Given the description of an element on the screen output the (x, y) to click on. 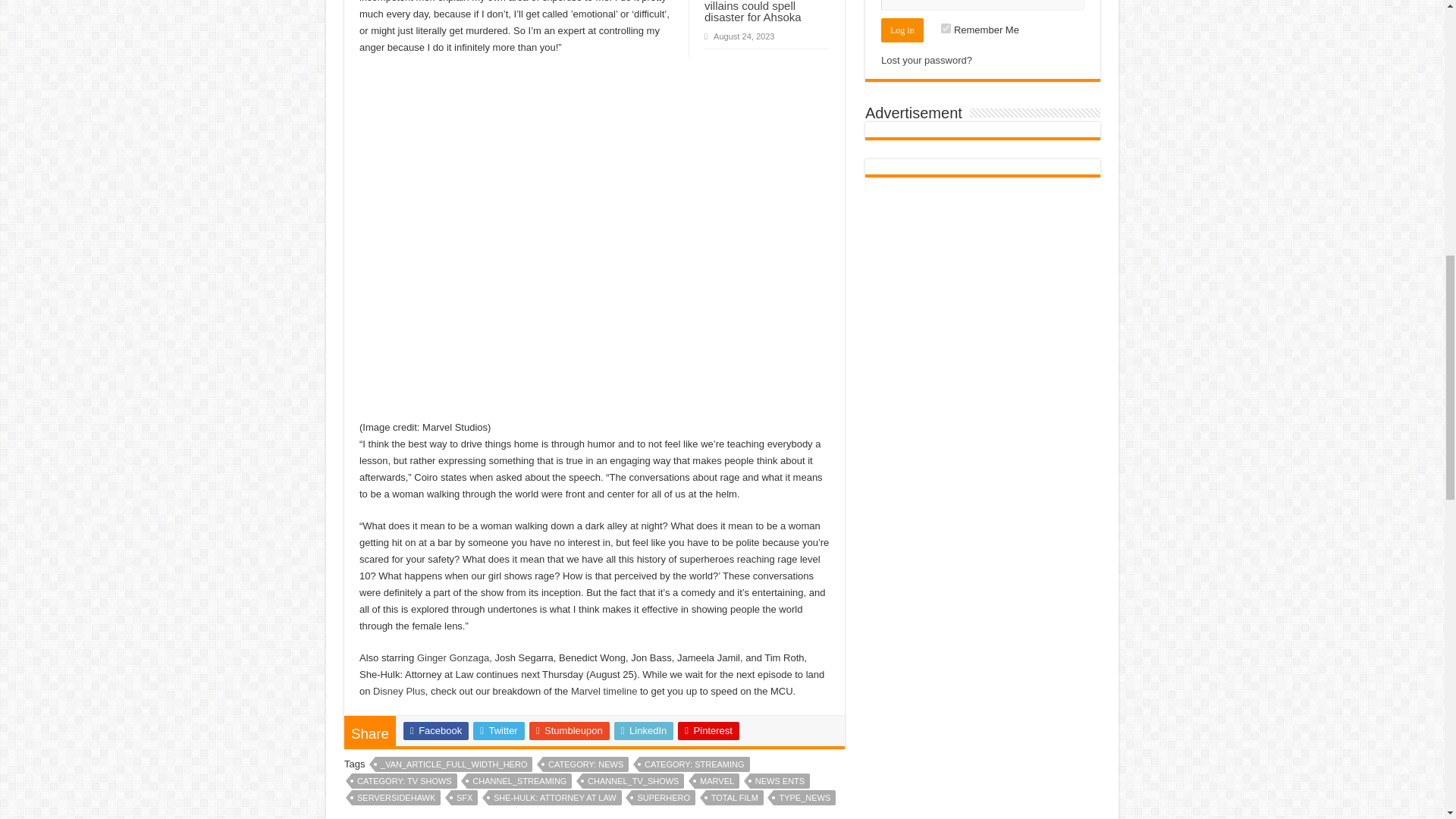
forever (945, 28)
Log in (901, 30)
Password (982, 5)
